Given the description of an element on the screen output the (x, y) to click on. 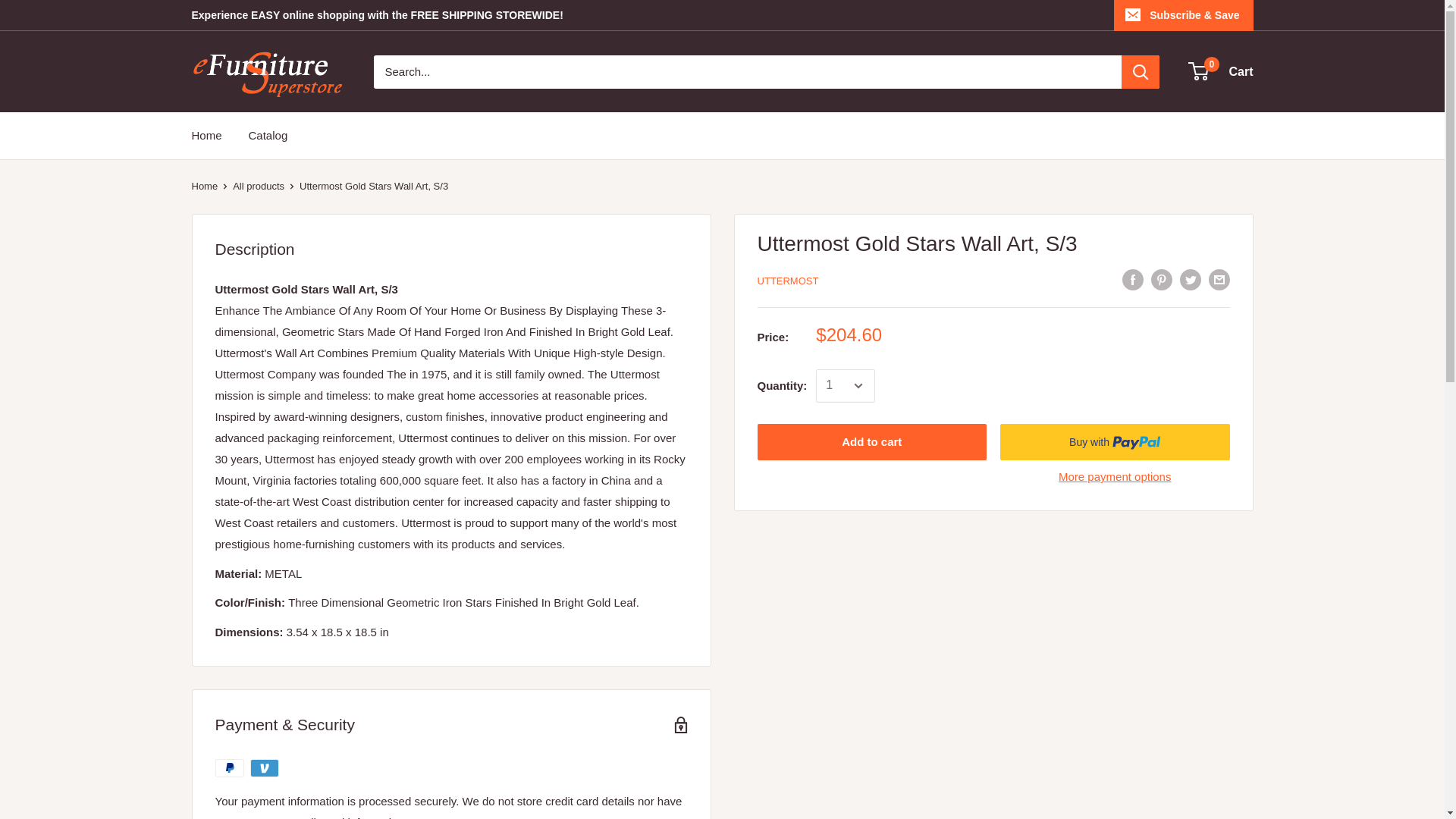
UTTERMOST (787, 280)
Home (205, 135)
All products (257, 185)
More payment options (1115, 476)
Home (203, 185)
Catalog (268, 135)
Add to cart (1220, 71)
